Given the description of an element on the screen output the (x, y) to click on. 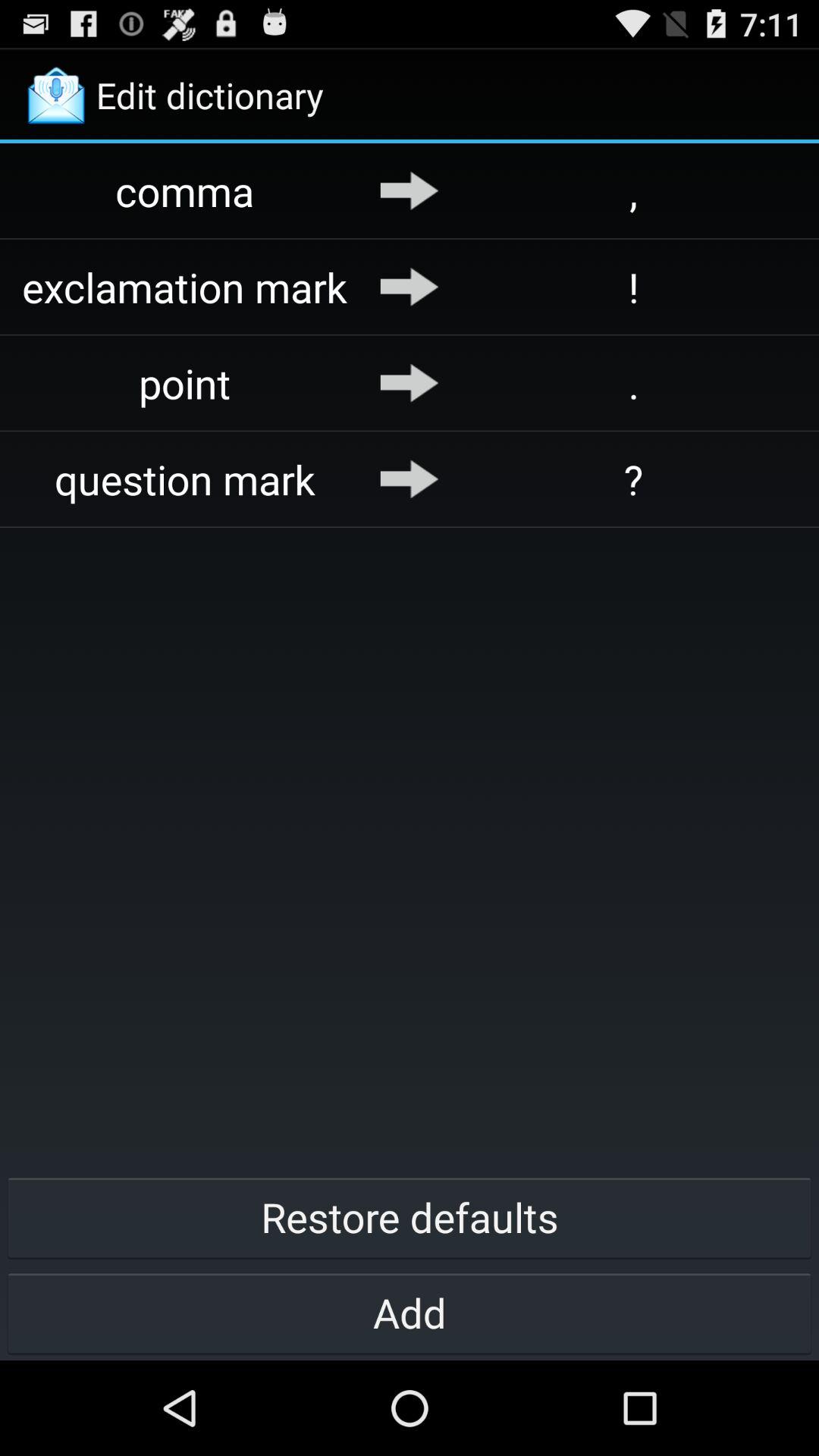
choose the icon above the exclamation mark app (409, 190)
